Given the description of an element on the screen output the (x, y) to click on. 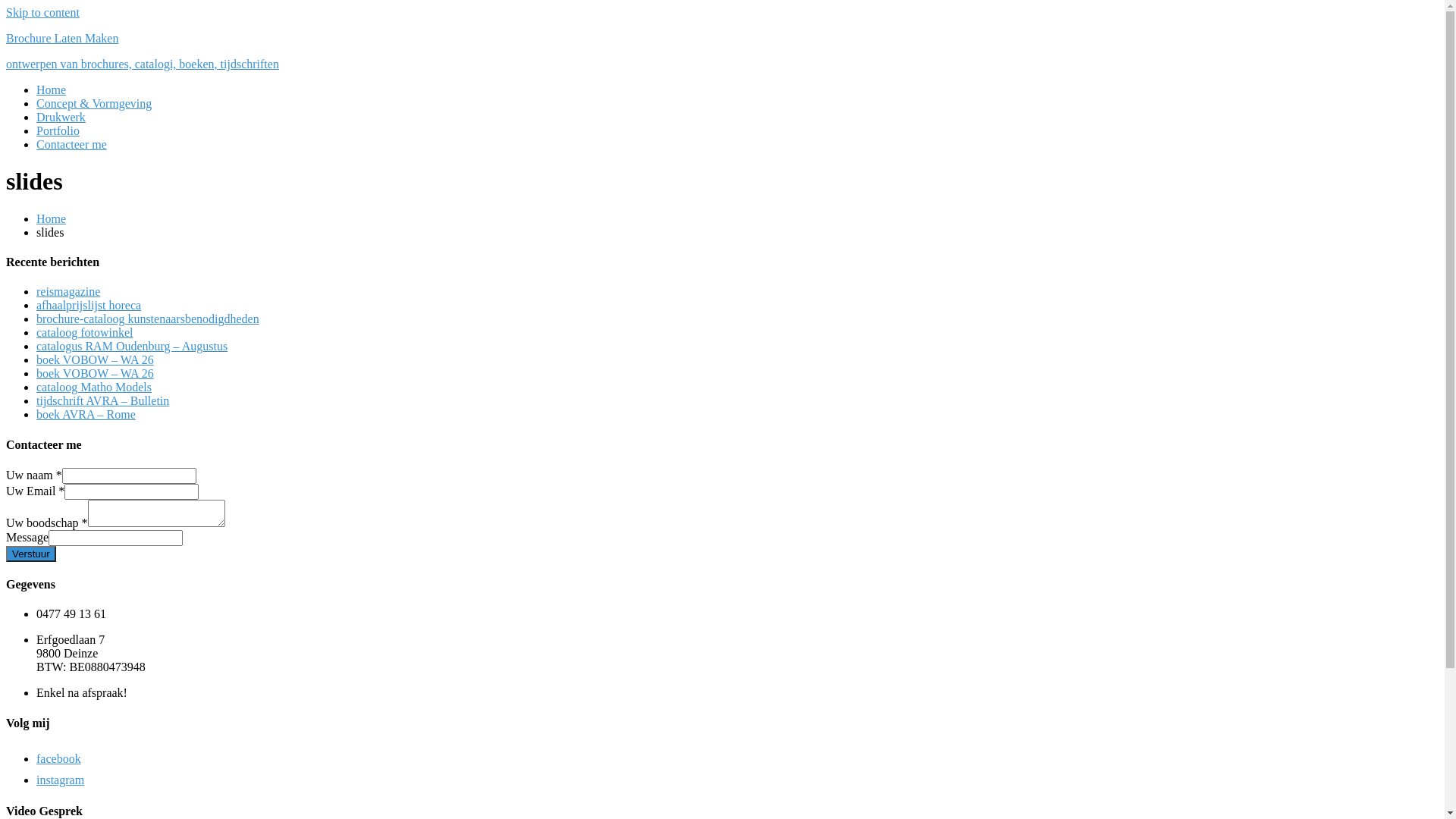
cataloog Matho Models Element type: text (93, 386)
Drukwerk Element type: text (60, 116)
facebook Element type: text (61, 758)
brochure-cataloog kunstenaarsbenodigdheden Element type: text (147, 318)
Brochure Laten Maken Element type: text (62, 37)
Home Element type: text (50, 89)
Concept & Vormgeving Element type: text (93, 103)
Portfolio Element type: text (57, 130)
instagram Element type: text (63, 779)
Home Element type: text (50, 218)
cataloog fotowinkel Element type: text (84, 332)
ontwerpen van brochures, catalogi, boeken, tijdschriften Element type: text (142, 63)
Skip to content Element type: text (42, 12)
afhaalprijslijst horeca Element type: text (88, 304)
reismagazine Element type: text (68, 291)
Contacteer me Element type: text (71, 144)
Verstuur Element type: text (31, 553)
